Given the description of an element on the screen output the (x, y) to click on. 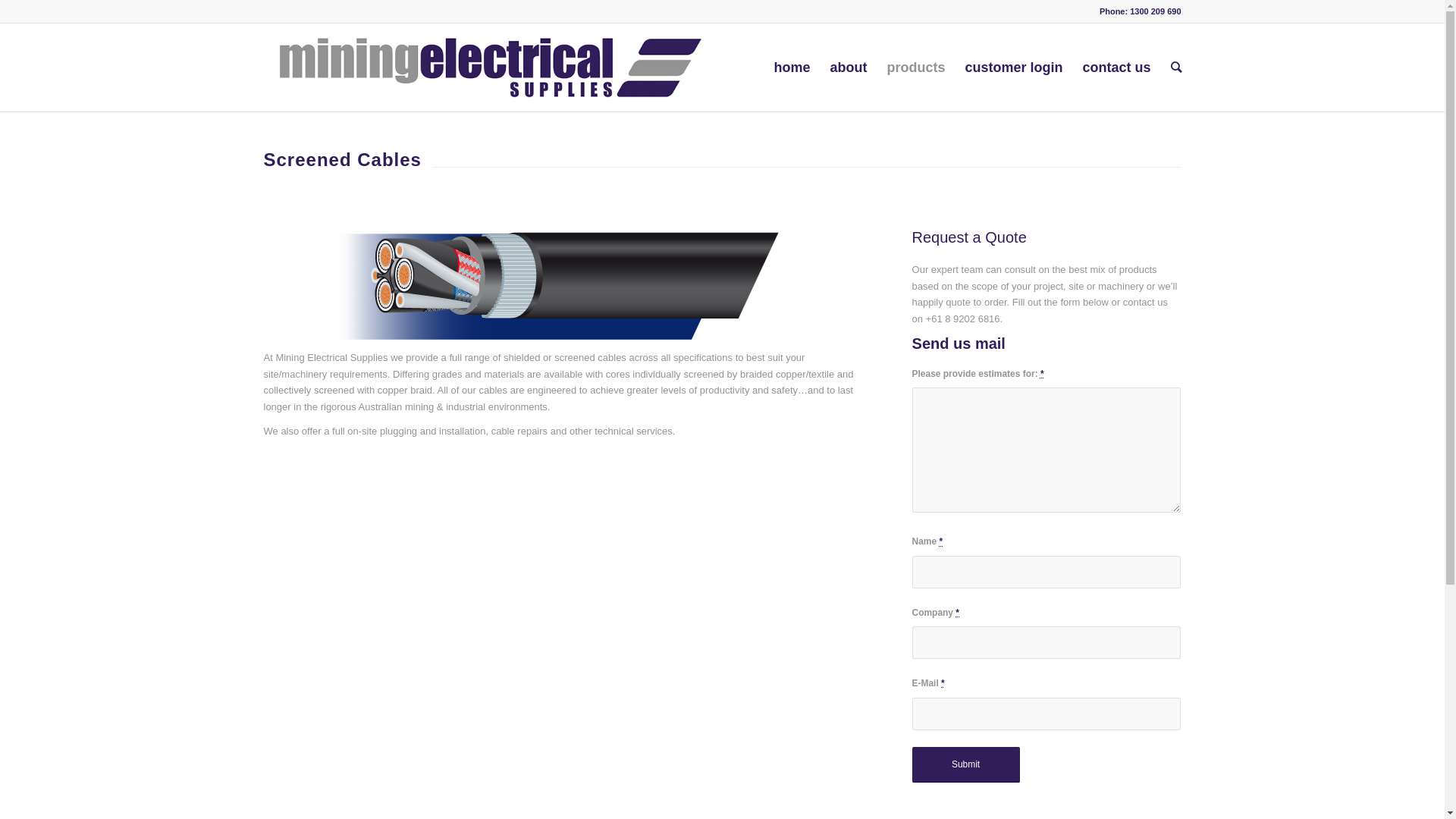
home Element type: text (791, 67)
about Element type: text (847, 67)
customer login Element type: text (1013, 67)
products Element type: text (915, 67)
screened-cable Element type: hover (559, 285)
contact us Element type: text (1116, 67)
Submit Element type: text (965, 764)
